Given the description of an element on the screen output the (x, y) to click on. 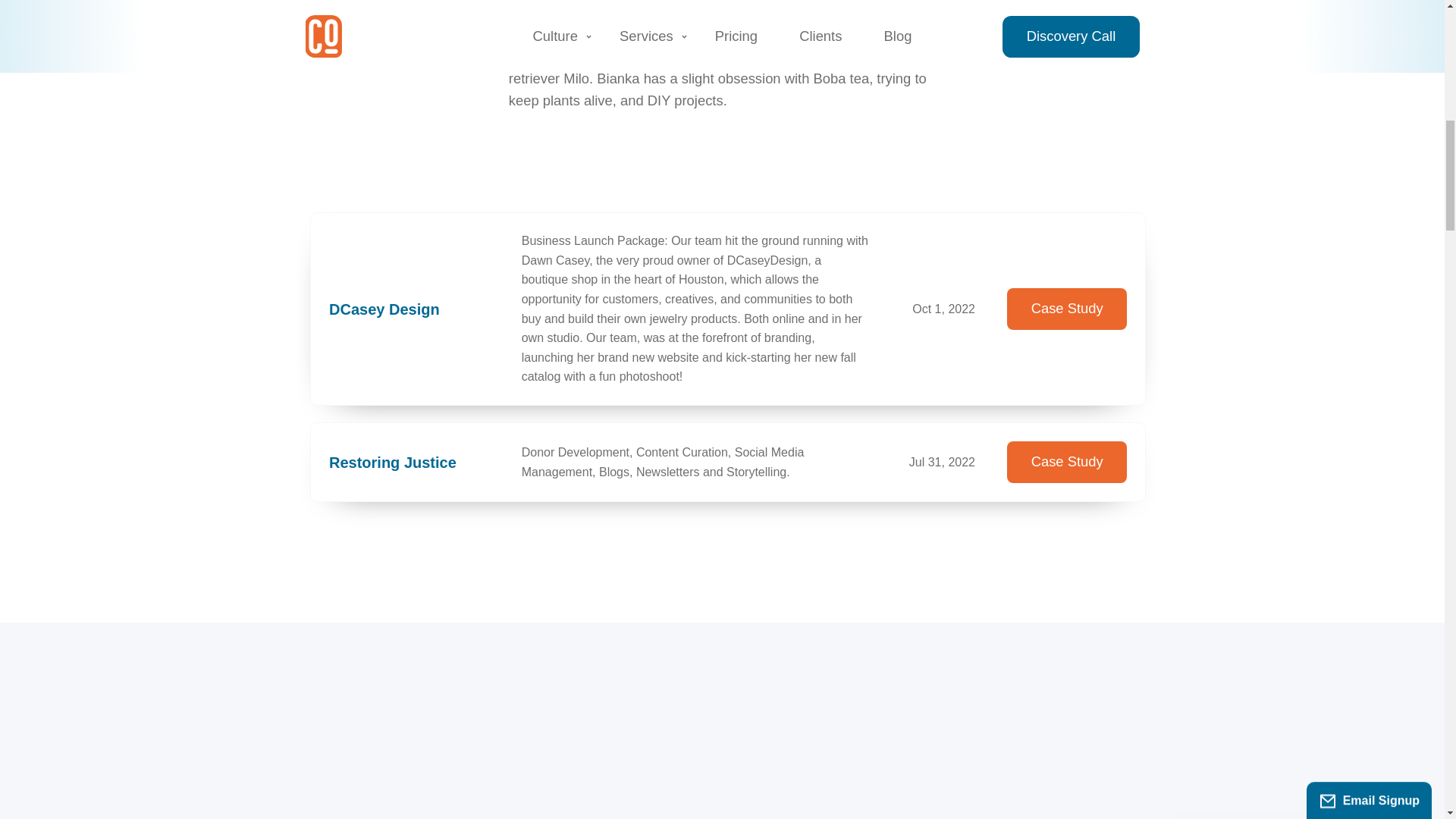
Submit (1292, 139)
Case Study (1066, 309)
Case Study (1066, 462)
Submit (1292, 139)
